Given the description of an element on the screen output the (x, y) to click on. 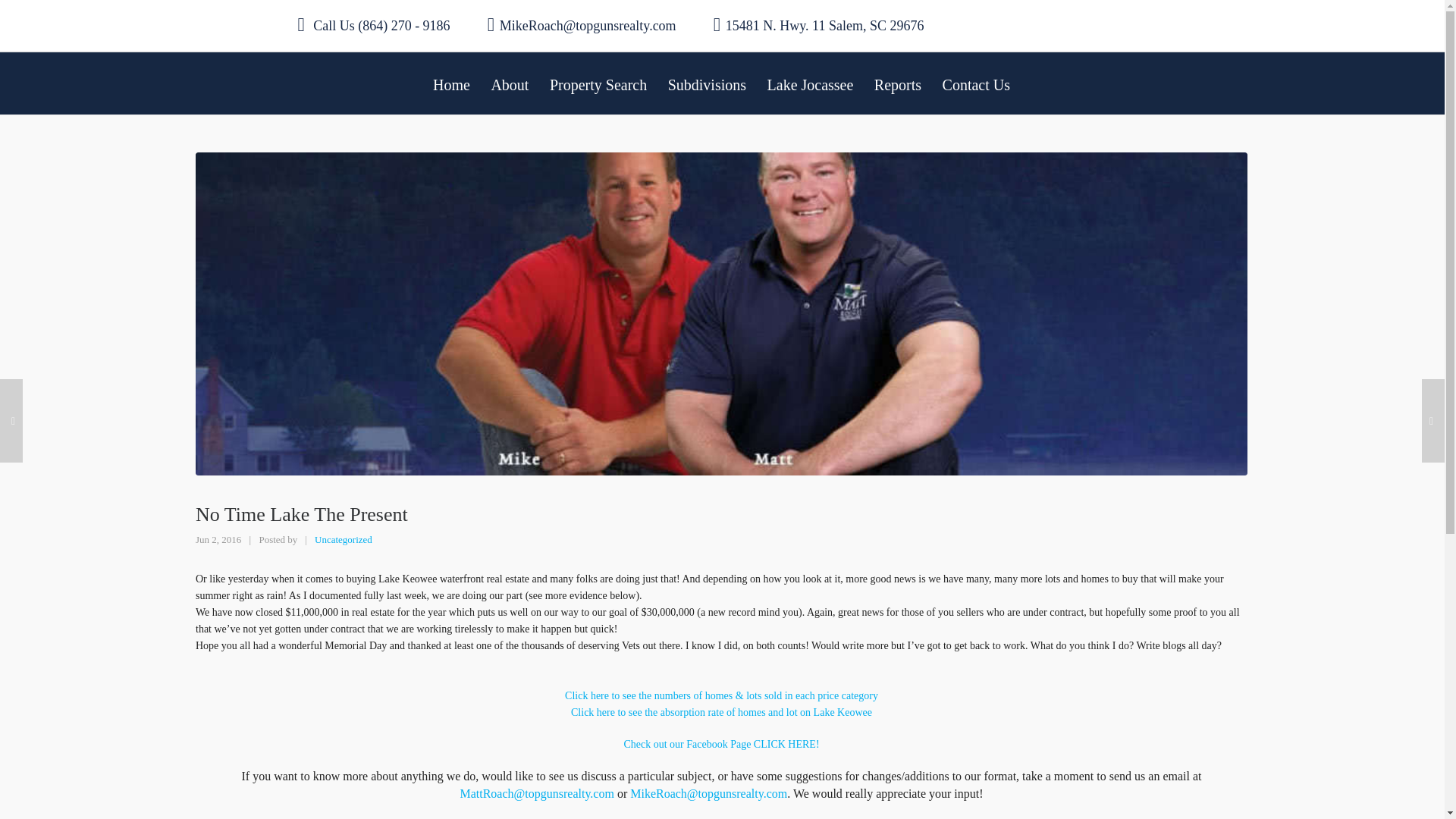
Lake Keowee Real Estate Reserve (720, 744)
View all posts in Uncategorized (343, 539)
Home (451, 83)
15481 N. Hwy. 11 Salem, SC 29676 (818, 24)
Lake Keowee Waterfront Real Estate Numbe (720, 695)
About (509, 83)
Lake Keowee Real Estate Numbers Roach (721, 712)
